Given the description of an element on the screen output the (x, y) to click on. 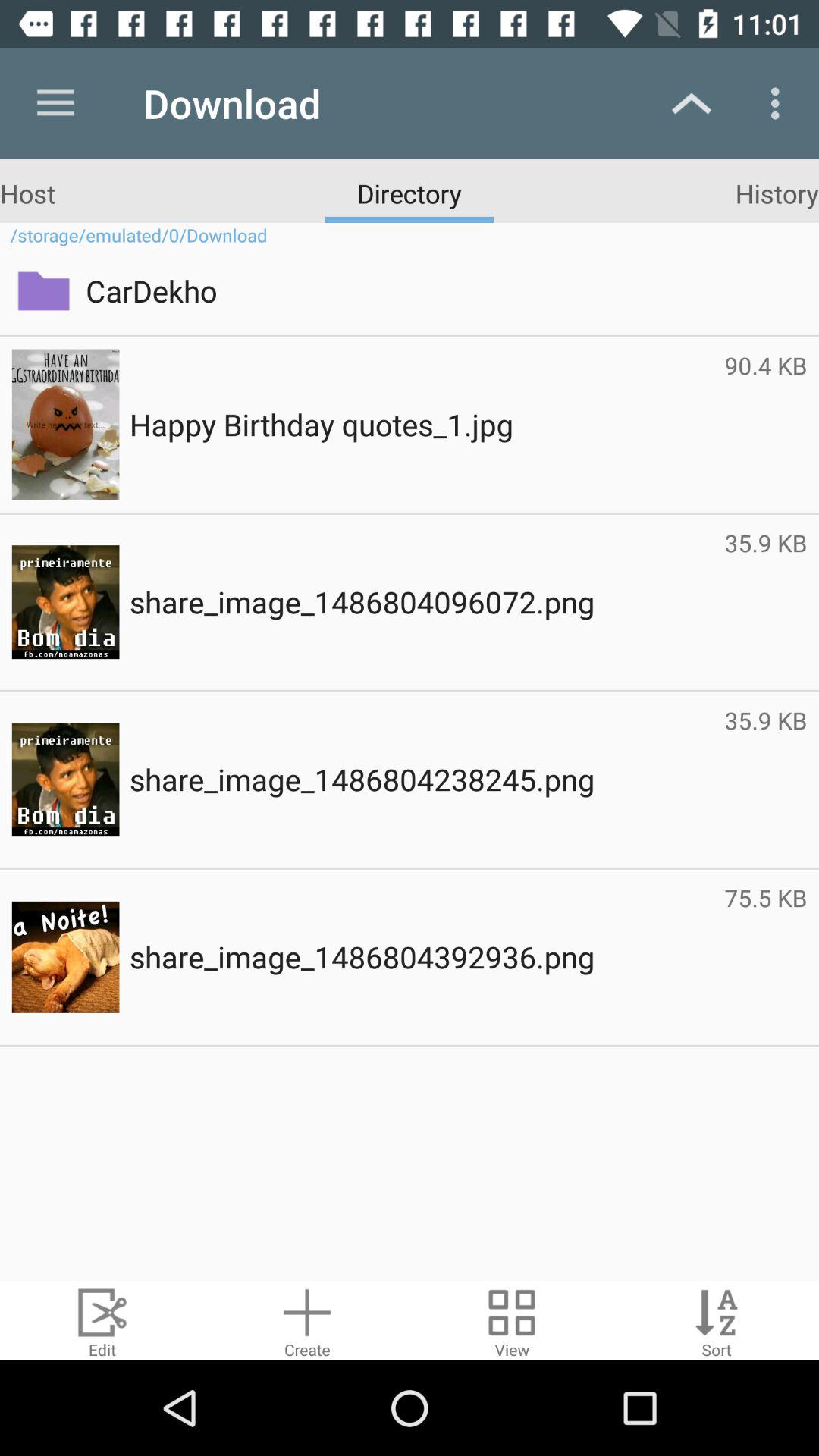
toggle view (511, 1320)
